Given the description of an element on the screen output the (x, y) to click on. 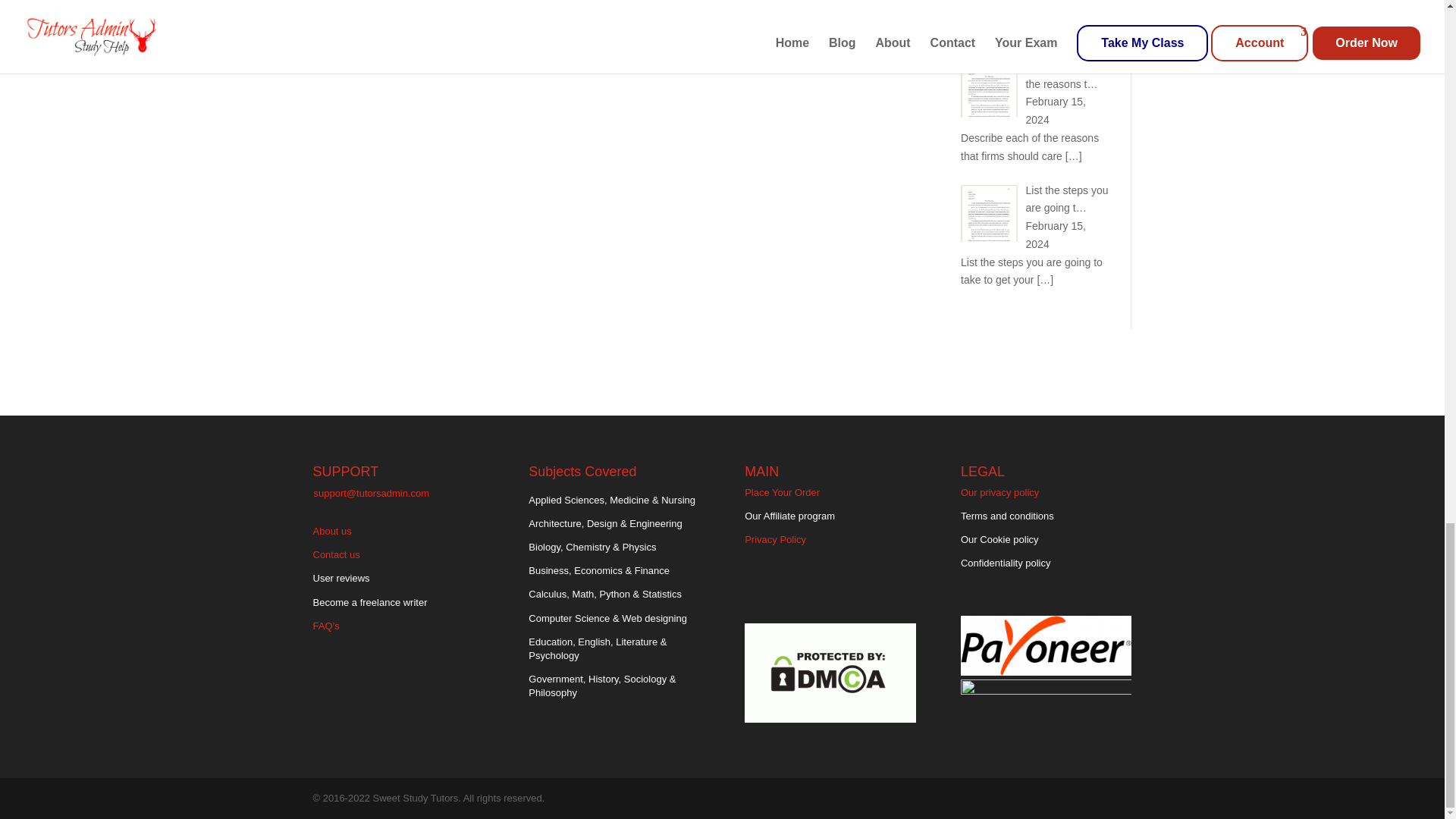
Contact us (336, 554)
About us (331, 531)
Place Your Order (781, 491)
Privacy Policy (775, 539)
Our privacy policy (999, 491)
